Given the description of an element on the screen output the (x, y) to click on. 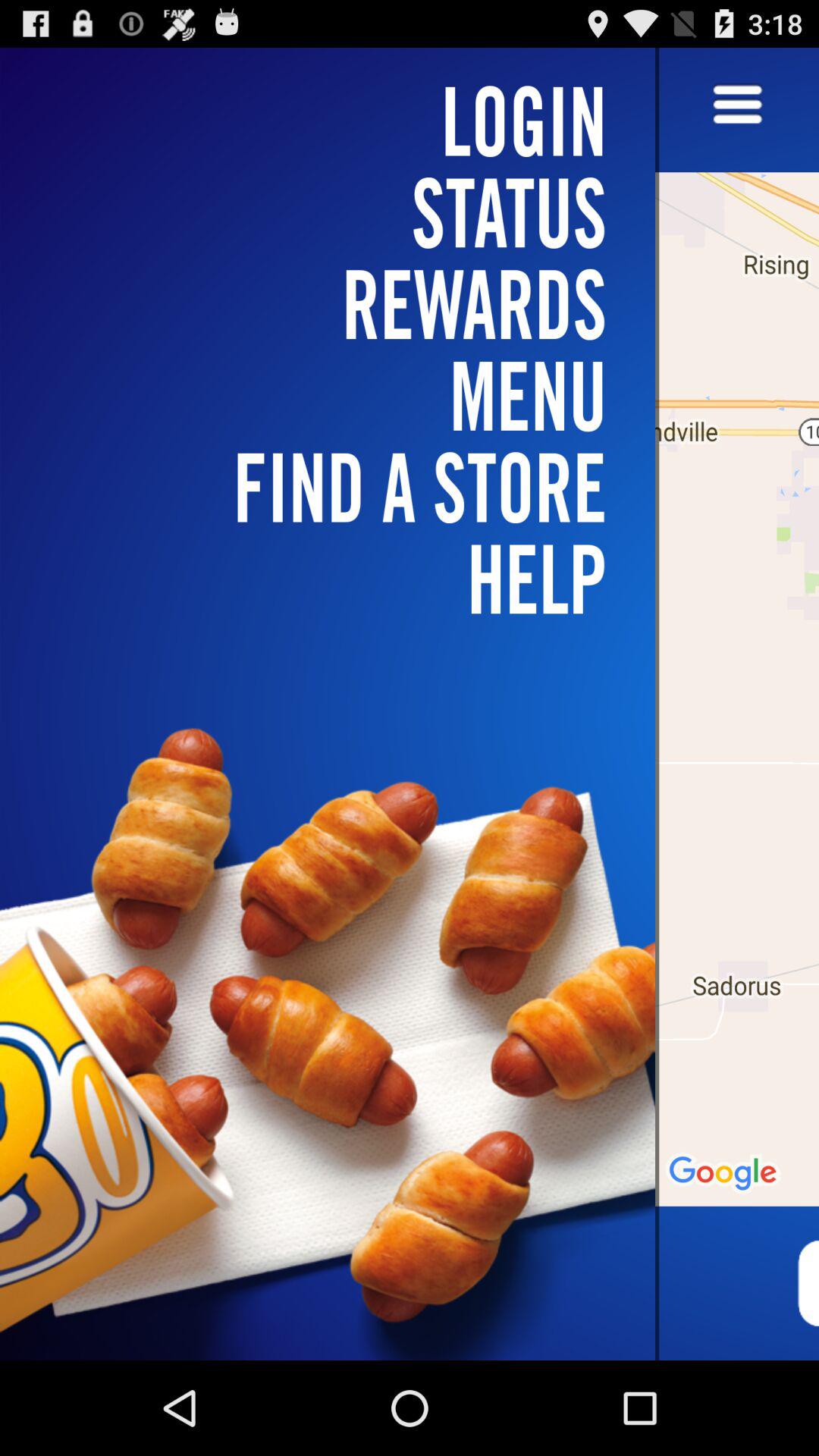
more options (737, 105)
